Given the description of an element on the screen output the (x, y) to click on. 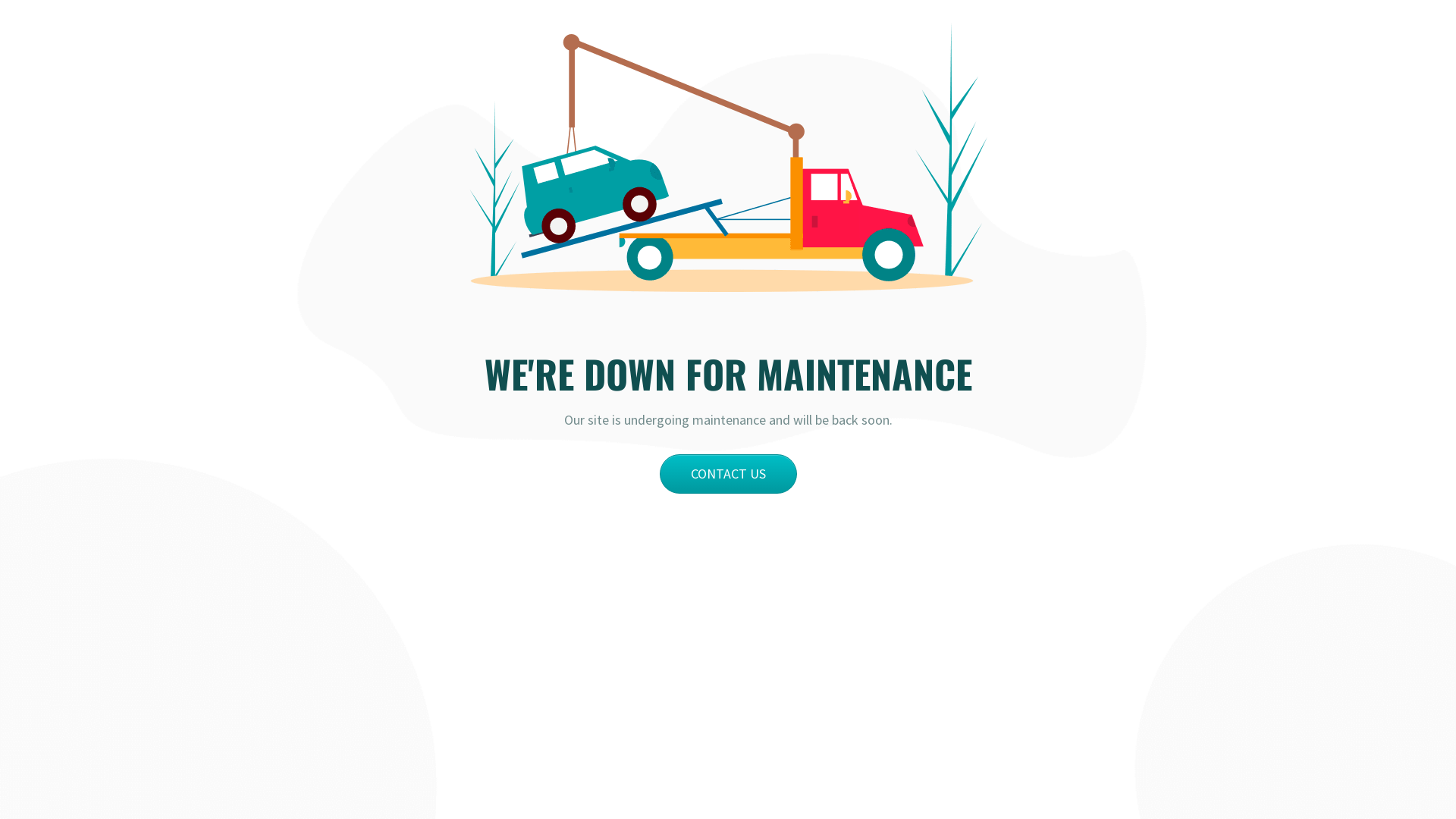
CONTACT US Element type: text (728, 473)
